Given the description of an element on the screen output the (x, y) to click on. 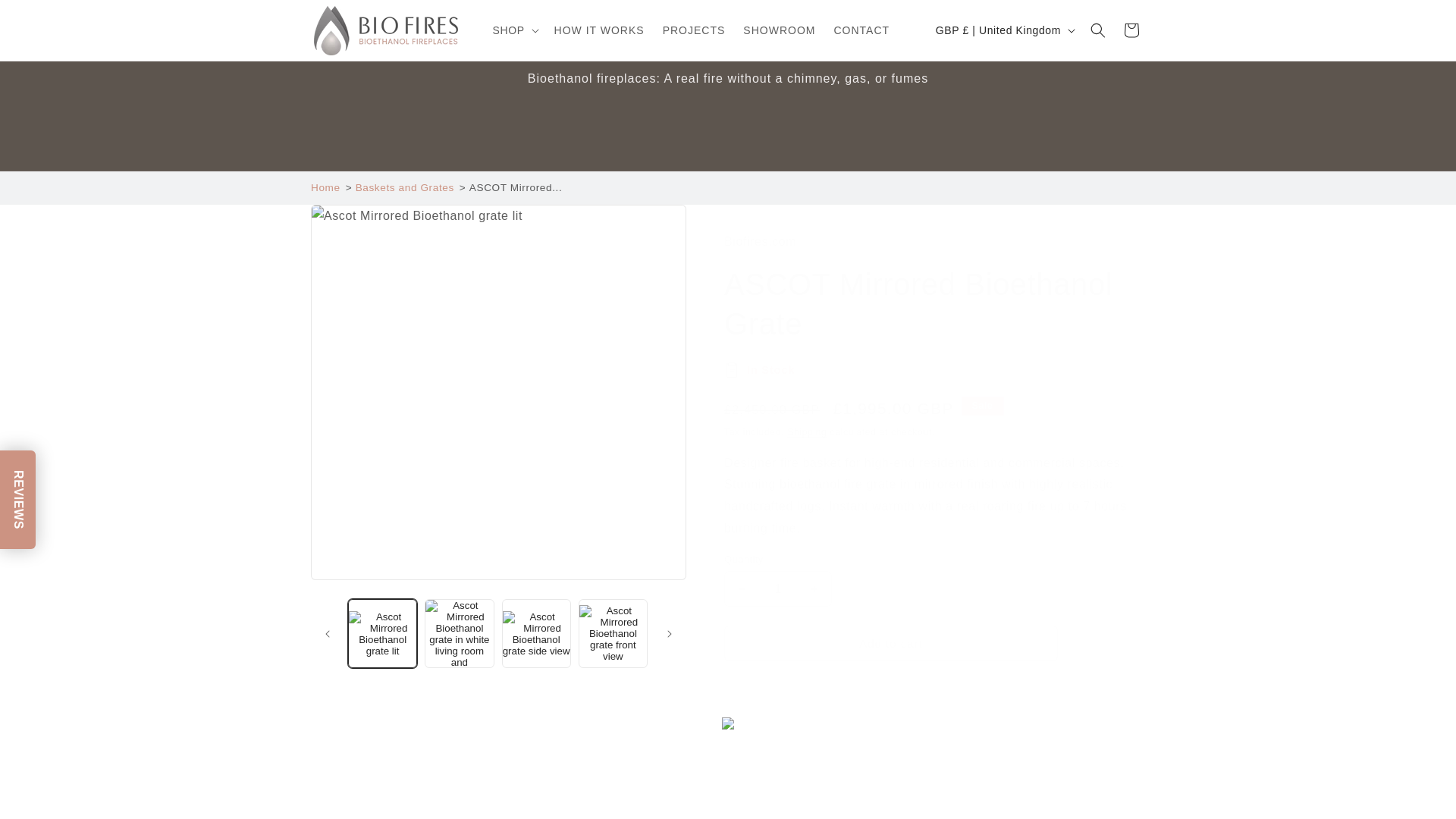
Skip to content (45, 17)
Home (325, 187)
1 (777, 588)
